Given the description of an element on the screen output the (x, y) to click on. 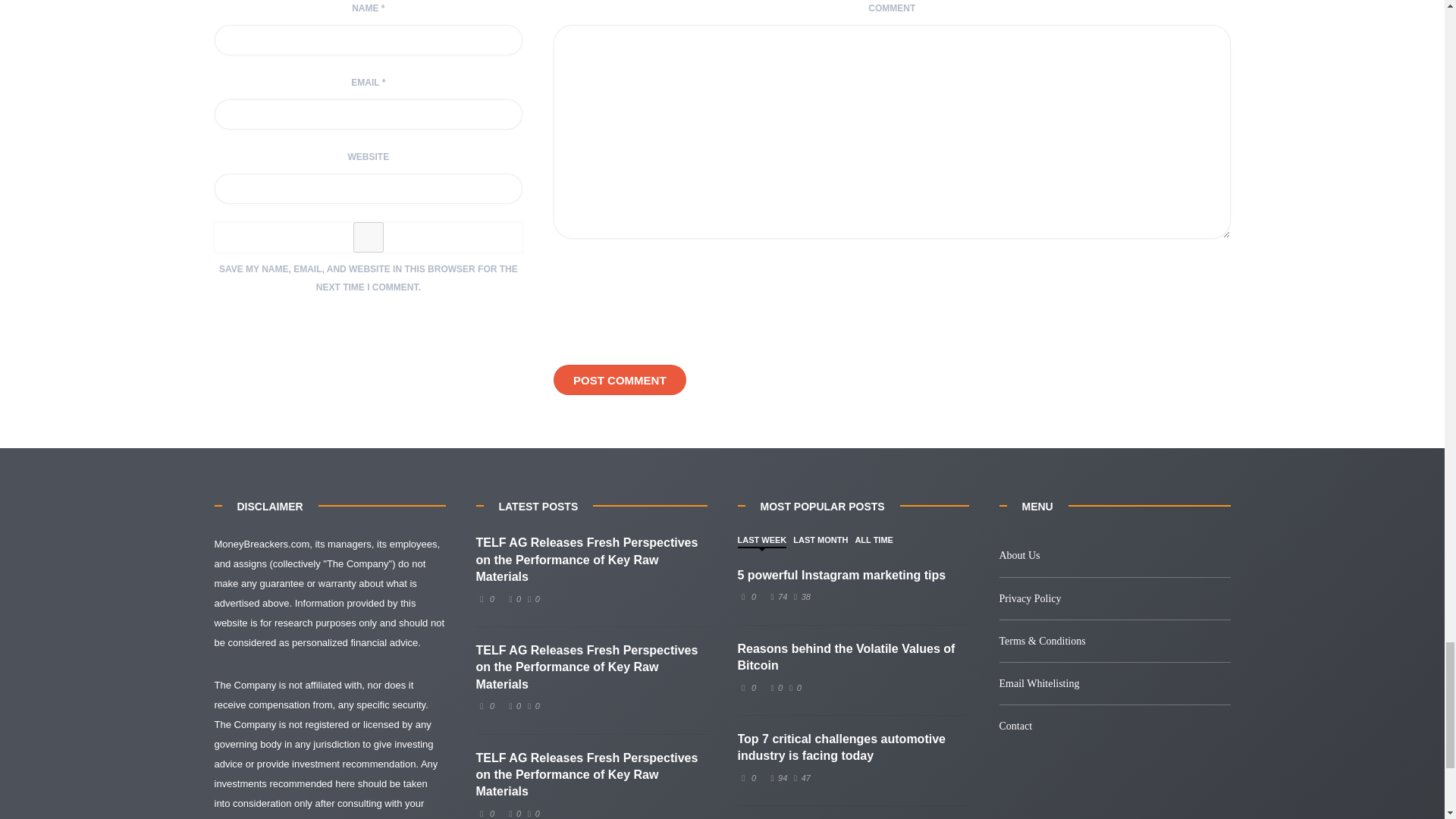
I like this (775, 687)
I dislike this (531, 813)
I dislike this (799, 777)
I like this (513, 598)
Post Comment (619, 379)
yes (368, 236)
I like this (513, 705)
I like this (777, 596)
I like this (513, 813)
I like this (777, 777)
I dislike this (531, 705)
I dislike this (799, 596)
I dislike this (793, 687)
I dislike this (531, 598)
